Given the description of an element on the screen output the (x, y) to click on. 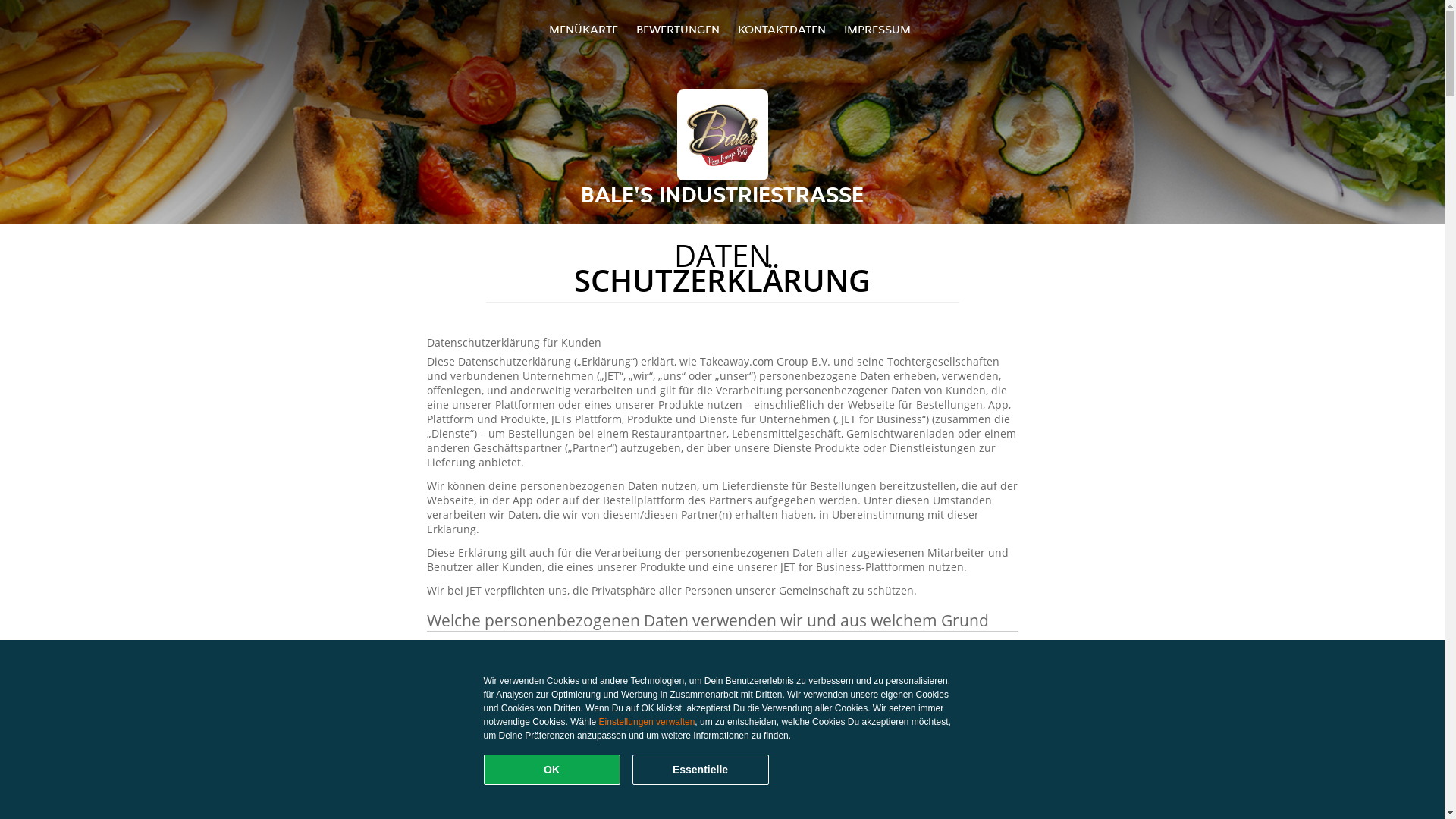
Einstellungen verwalten Element type: text (647, 721)
OK Element type: text (551, 769)
BEWERTUNGEN Element type: text (677, 29)
KONTAKTDATEN Element type: text (781, 29)
Essentielle Element type: text (700, 769)
IMPRESSUM Element type: text (877, 29)
